Given the description of an element on the screen output the (x, y) to click on. 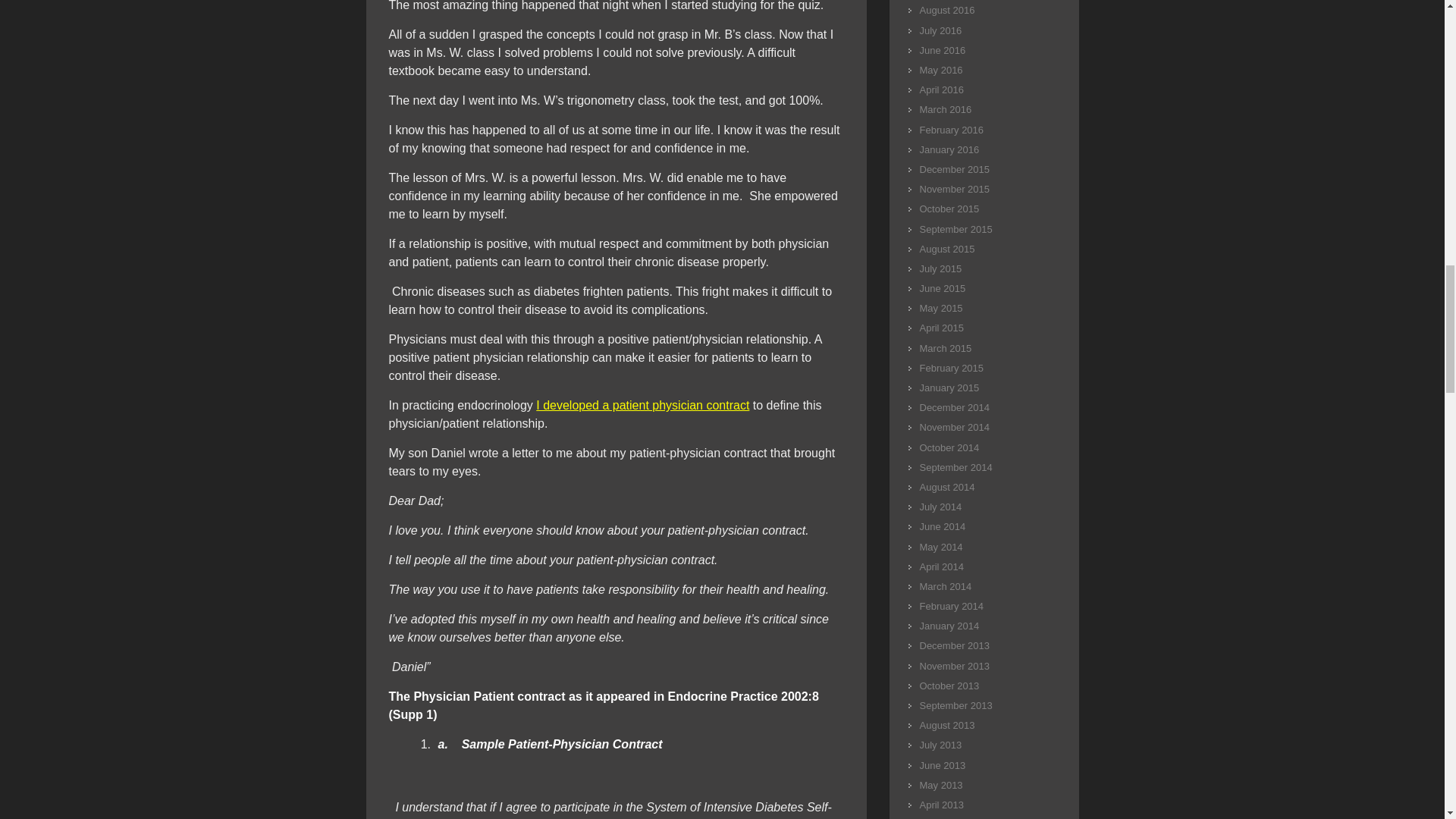
I developed a patient physician contract (642, 404)
